Given the description of an element on the screen output the (x, y) to click on. 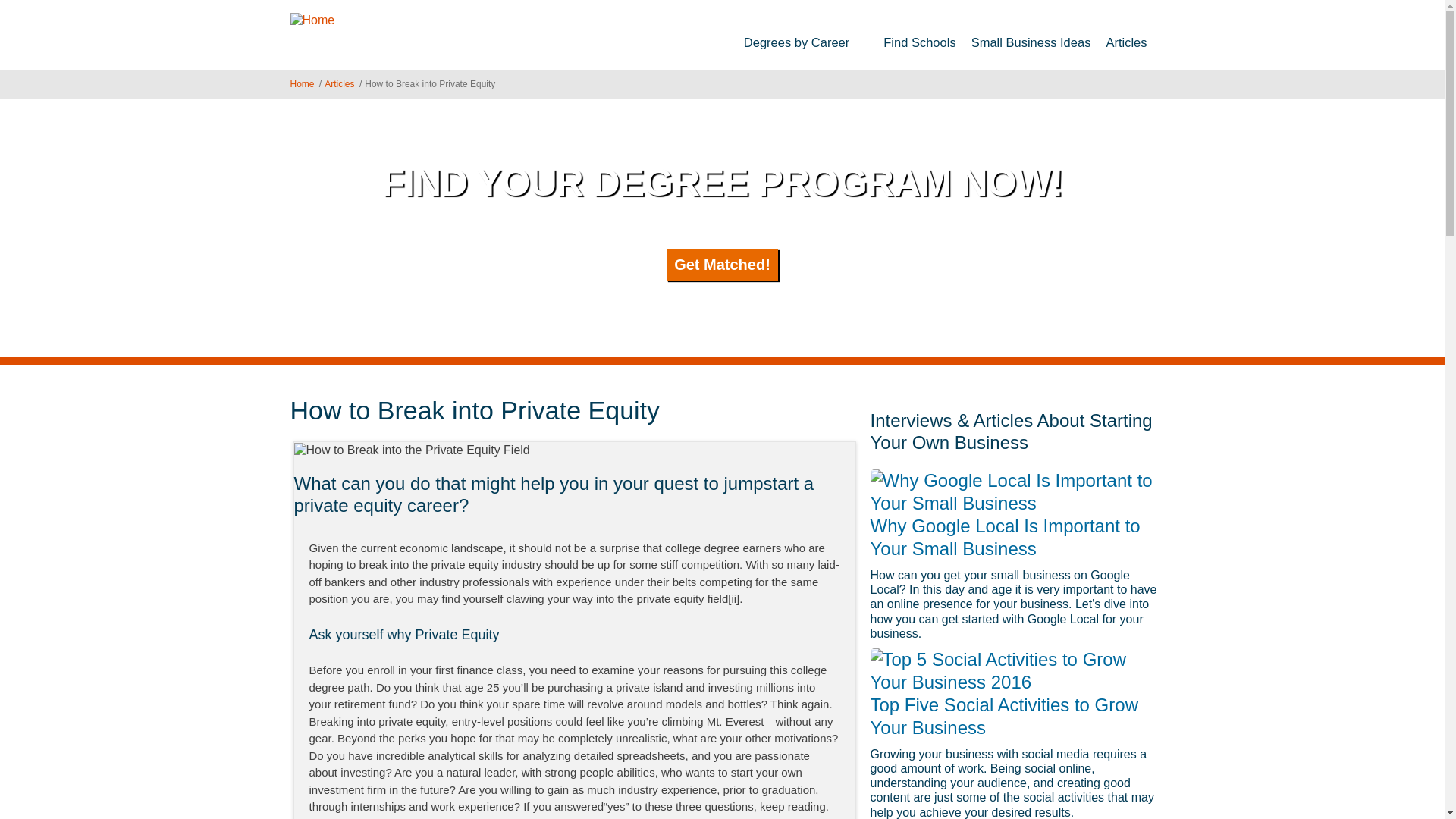
Articles (338, 83)
Small Business Ideas (1031, 42)
Find Schools (919, 42)
Home (301, 83)
Get Matched! (721, 264)
Articles (1125, 42)
Home (311, 19)
Google Local for Your Small Business (1018, 492)
Top 5 Social Activities to Grow Your Business (1018, 670)
Degrees by Career (806, 42)
